Given the description of an element on the screen output the (x, y) to click on. 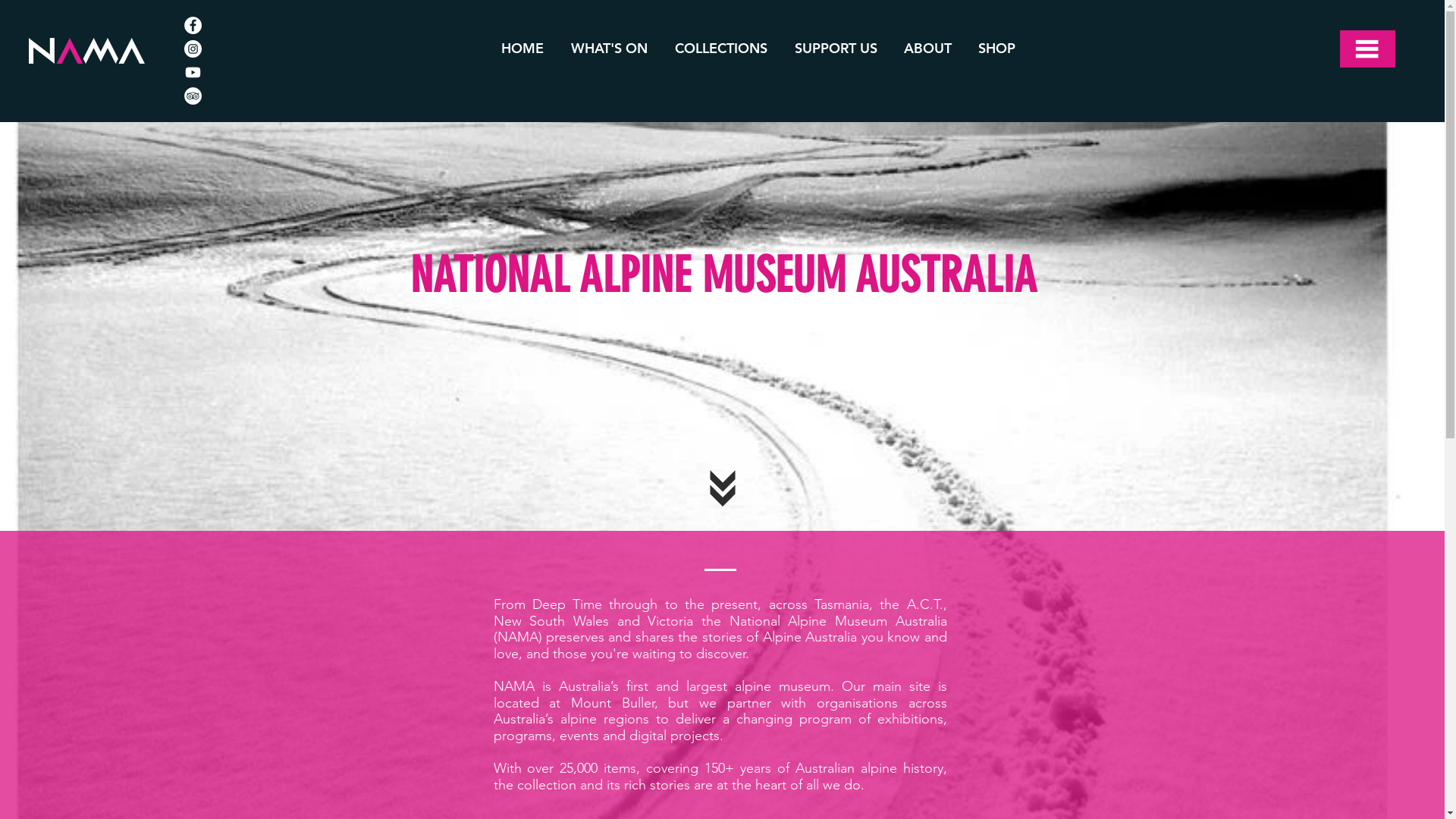
HOME Element type: text (522, 48)
SHOP Element type: text (997, 48)
SUPPORT US Element type: text (836, 48)
WHAT'S ON Element type: text (609, 48)
ABOUT Element type: text (928, 48)
COLLECTIONS Element type: text (721, 48)
threelines white.png Element type: hover (1367, 48)
